Given the description of an element on the screen output the (x, y) to click on. 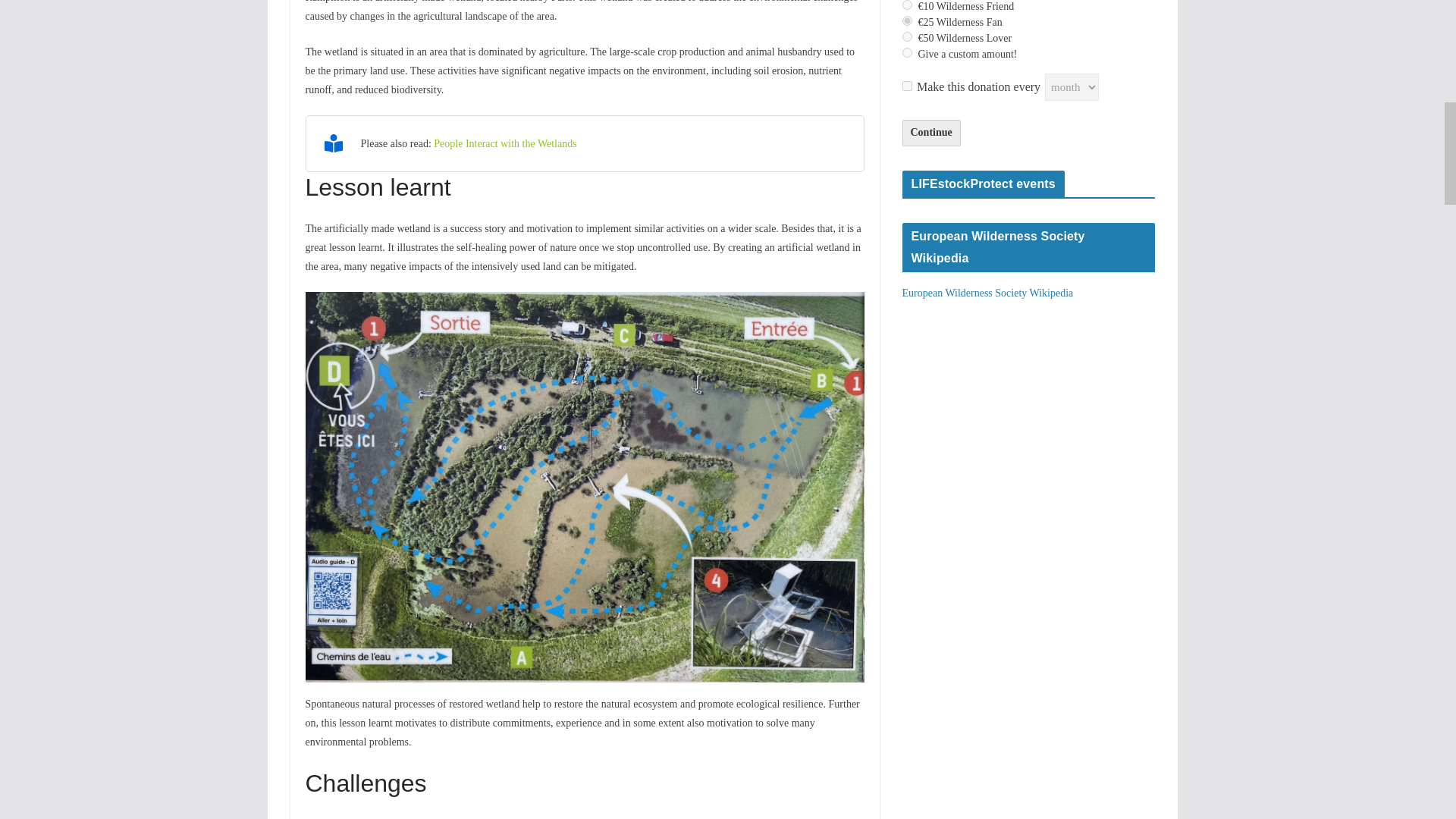
54.60 (907, 36)
on (907, 85)
10.92 (907, 4)
27.30 (907, 20)
custom (907, 52)
